Given the description of an element on the screen output the (x, y) to click on. 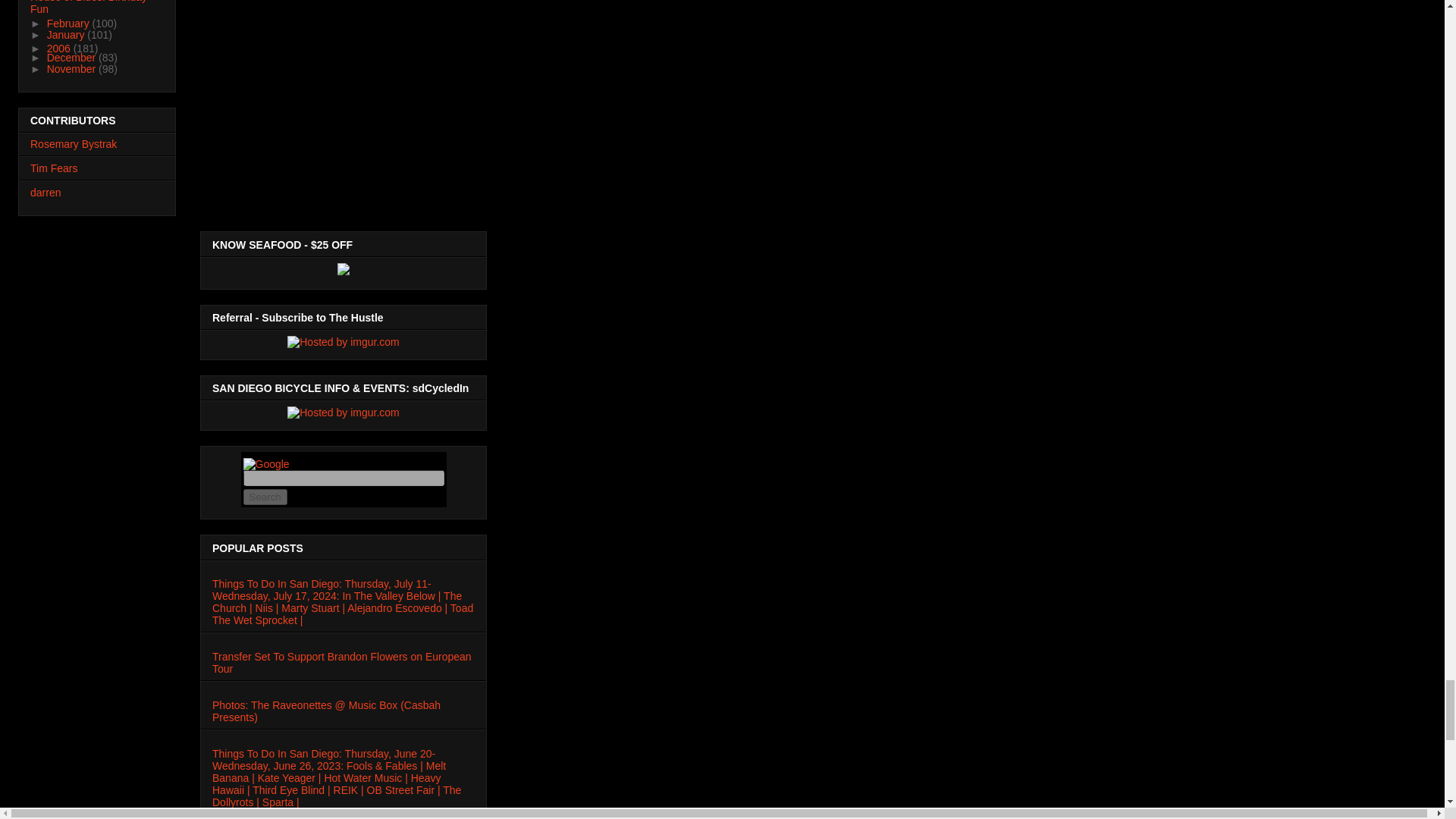
Search (264, 496)
Hosted by imgur.com (342, 412)
Hosted by imgur.com (342, 341)
